Given the description of an element on the screen output the (x, y) to click on. 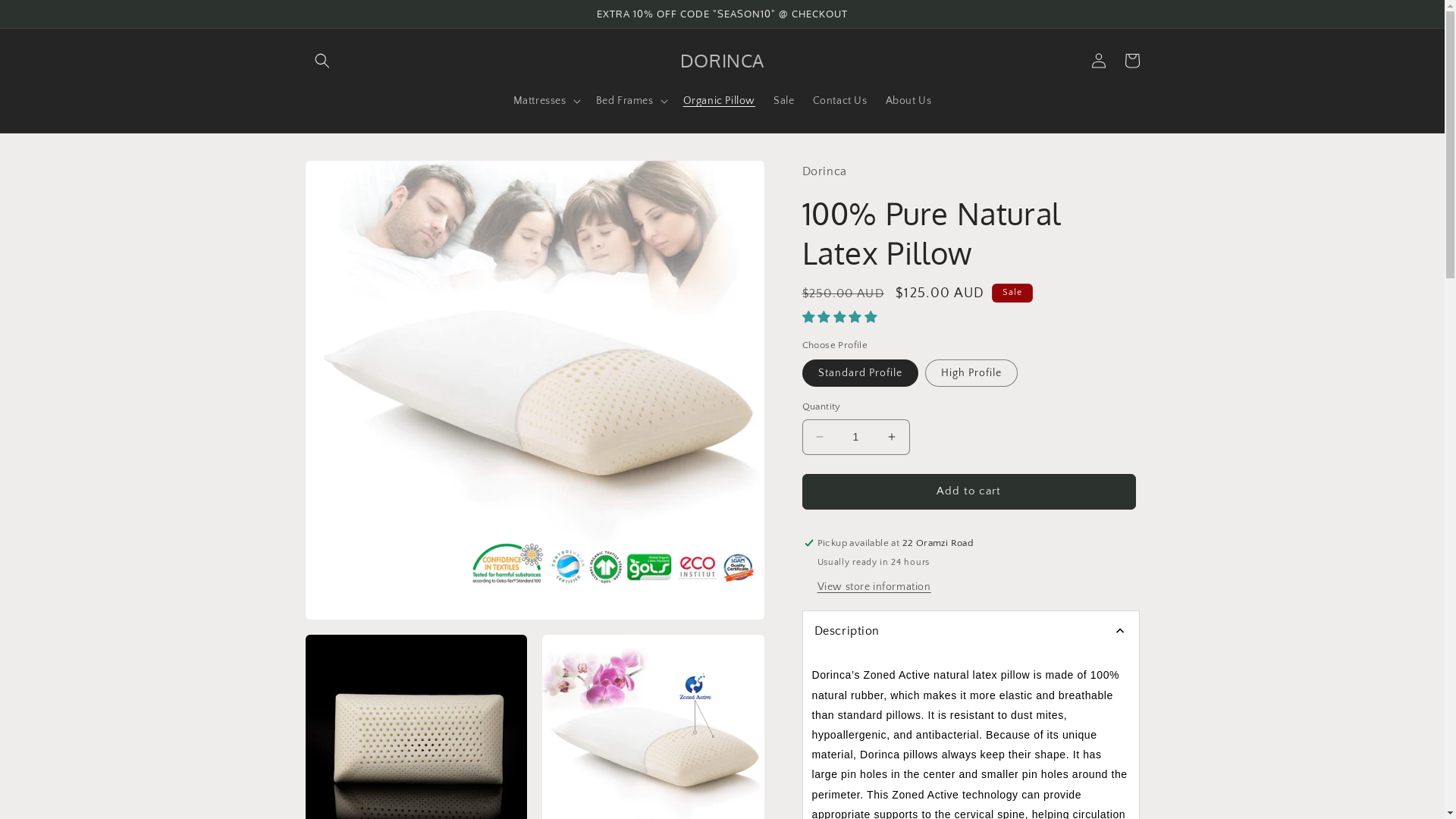
About Us Element type: text (908, 100)
DORINCA Element type: text (721, 60)
Increase quantity for 100% Pure Natural Latex Pillow Element type: text (892, 437)
Cart Element type: text (1131, 60)
View store information Element type: text (874, 587)
Organic Pillow Element type: text (719, 100)
Add to cart Element type: text (968, 491)
Contact Us Element type: text (839, 100)
Sale Element type: text (783, 100)
Skip to product information Element type: text (350, 177)
Decrease quantity for 100% Pure Natural Latex Pillow Element type: text (819, 437)
Log in Element type: text (1097, 60)
